Given the description of an element on the screen output the (x, y) to click on. 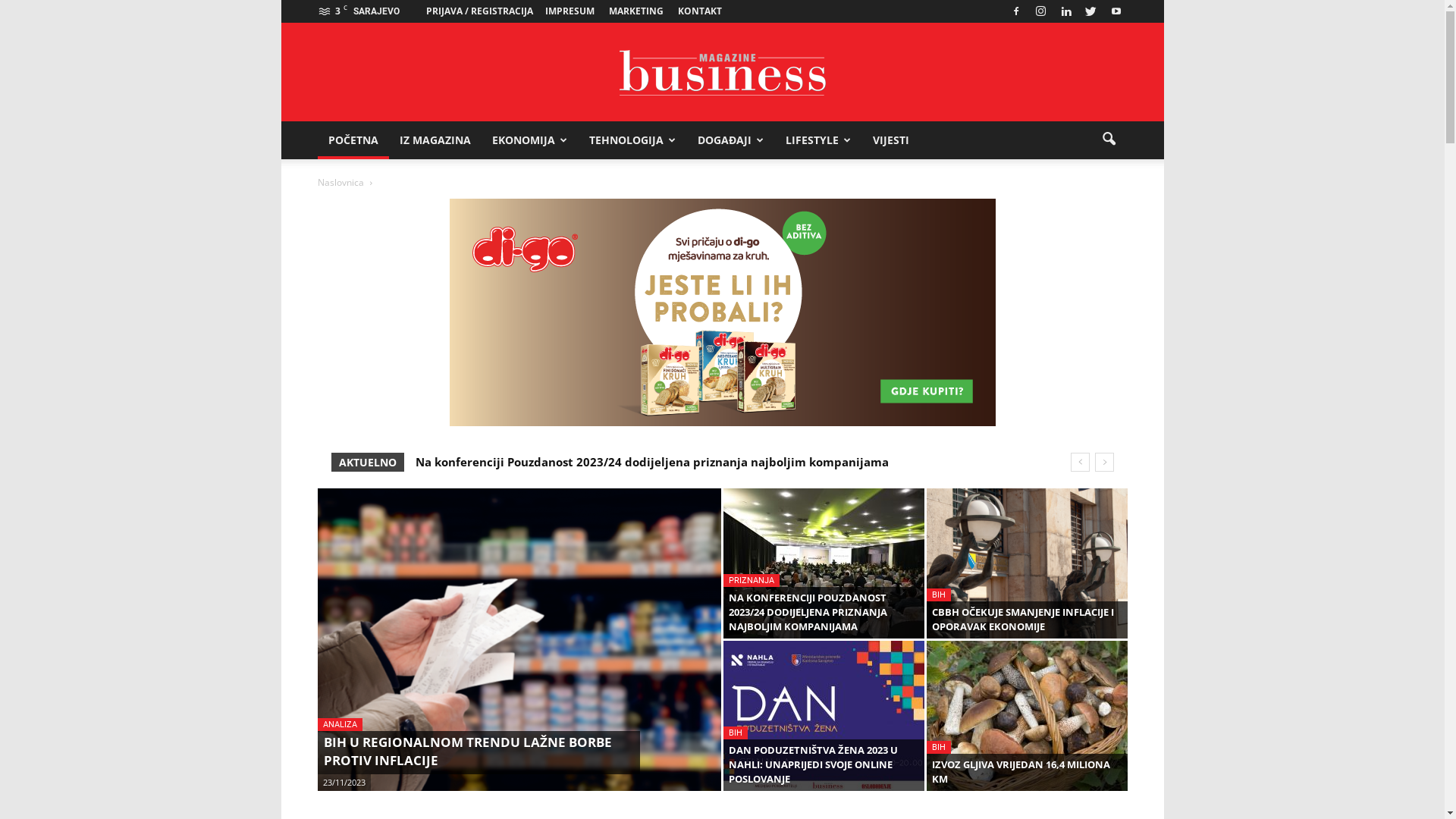
Twitter Element type: hover (1090, 11)
PRIJAVA / REGISTRACIJA Element type: text (479, 10)
Linkedin Element type: hover (1065, 11)
LIFESTYLE Element type: text (818, 140)
Youtube Element type: hover (1115, 11)
IMPRESUM Element type: text (568, 10)
Izvoz gljiva vrijedan 16,4 miliona KM Element type: text (519, 461)
TEHNOLOGIJA Element type: text (631, 140)
VIJESTI Element type: text (890, 140)
EKONOMIJA Element type: text (528, 140)
BIH Element type: text (735, 732)
BIH Element type: text (938, 746)
ANALIZA Element type: text (338, 724)
IZ MAGAZINA Element type: text (434, 140)
Facebook Element type: hover (1015, 11)
PRIZNANJA Element type: text (751, 580)
Instagram Element type: hover (1040, 11)
Business Magazine Element type: text (721, 72)
KONTAKT Element type: text (699, 10)
IZVOZ GLJIVA VRIJEDAN 16,4 MILIONA KM Element type: text (1020, 771)
Naslovnica Element type: text (339, 181)
Izvoz gljiva vrijedan 16,4 miliona KM Element type: hover (1026, 715)
MARKETING Element type: text (635, 10)
BIH Element type: text (938, 594)
